Given the description of an element on the screen output the (x, y) to click on. 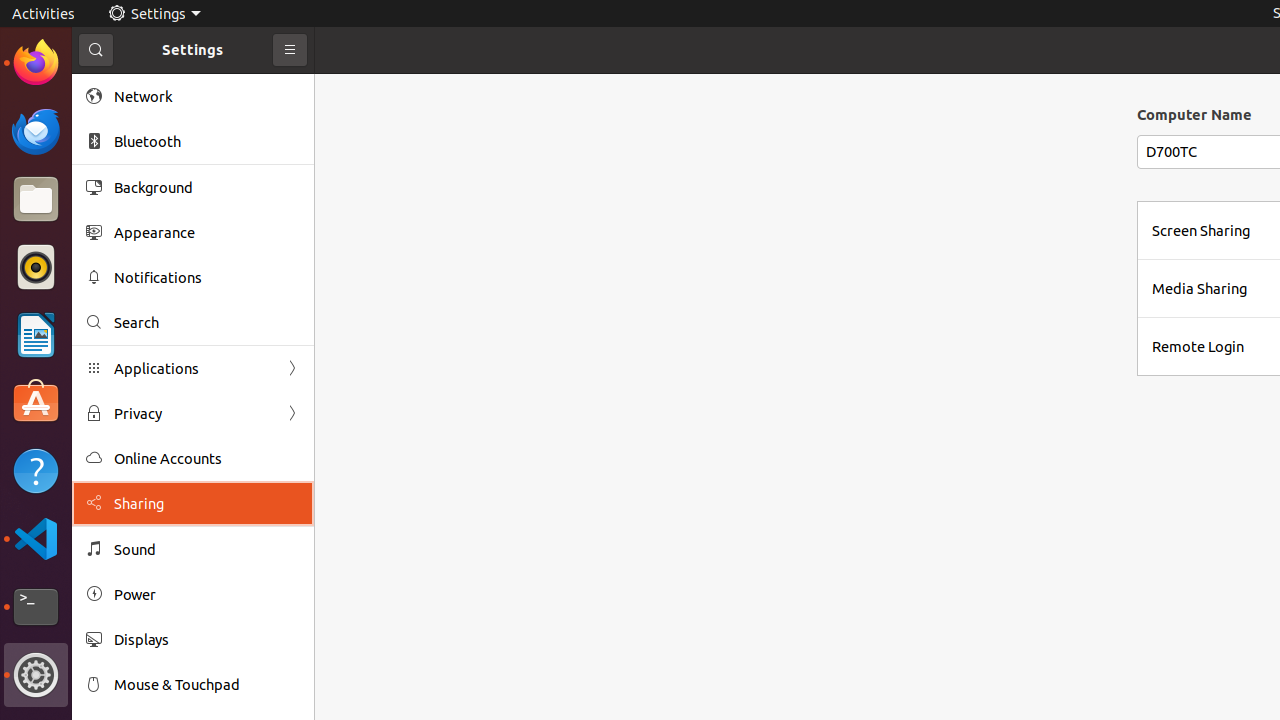
Power Element type: label (207, 594)
Primary Menu Element type: toggle-button (290, 50)
